Given the description of an element on the screen output the (x, y) to click on. 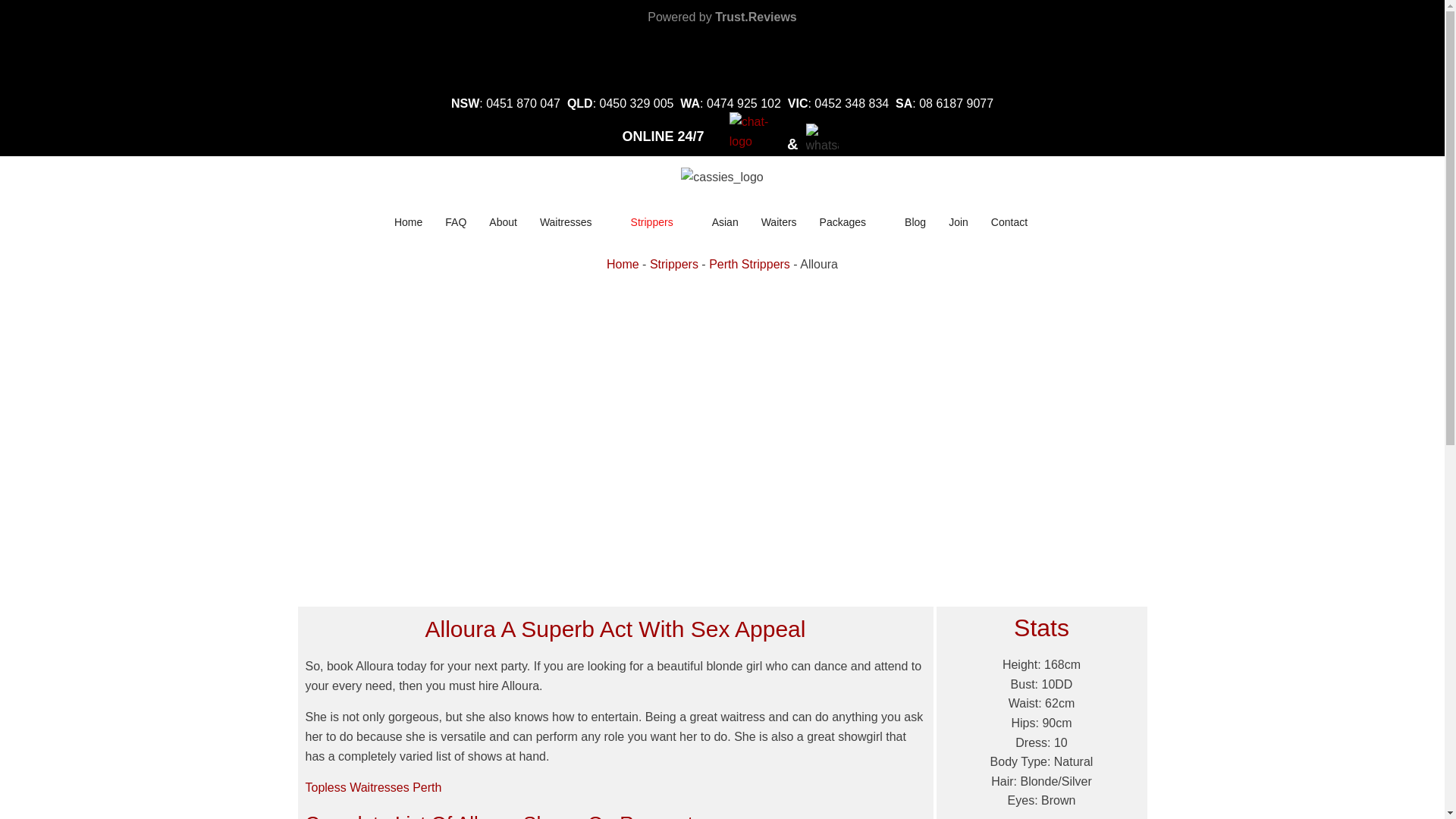
08 6187 9077 (955, 103)
Waitresses (574, 222)
0474 925 102 (743, 103)
About (502, 222)
0452 348 834   (854, 103)
0451 870 047 (523, 103)
0450 329 005 (636, 103)
Home (408, 222)
FAQ (455, 222)
Powered by Trust.Reviews (721, 16)
